Given the description of an element on the screen output the (x, y) to click on. 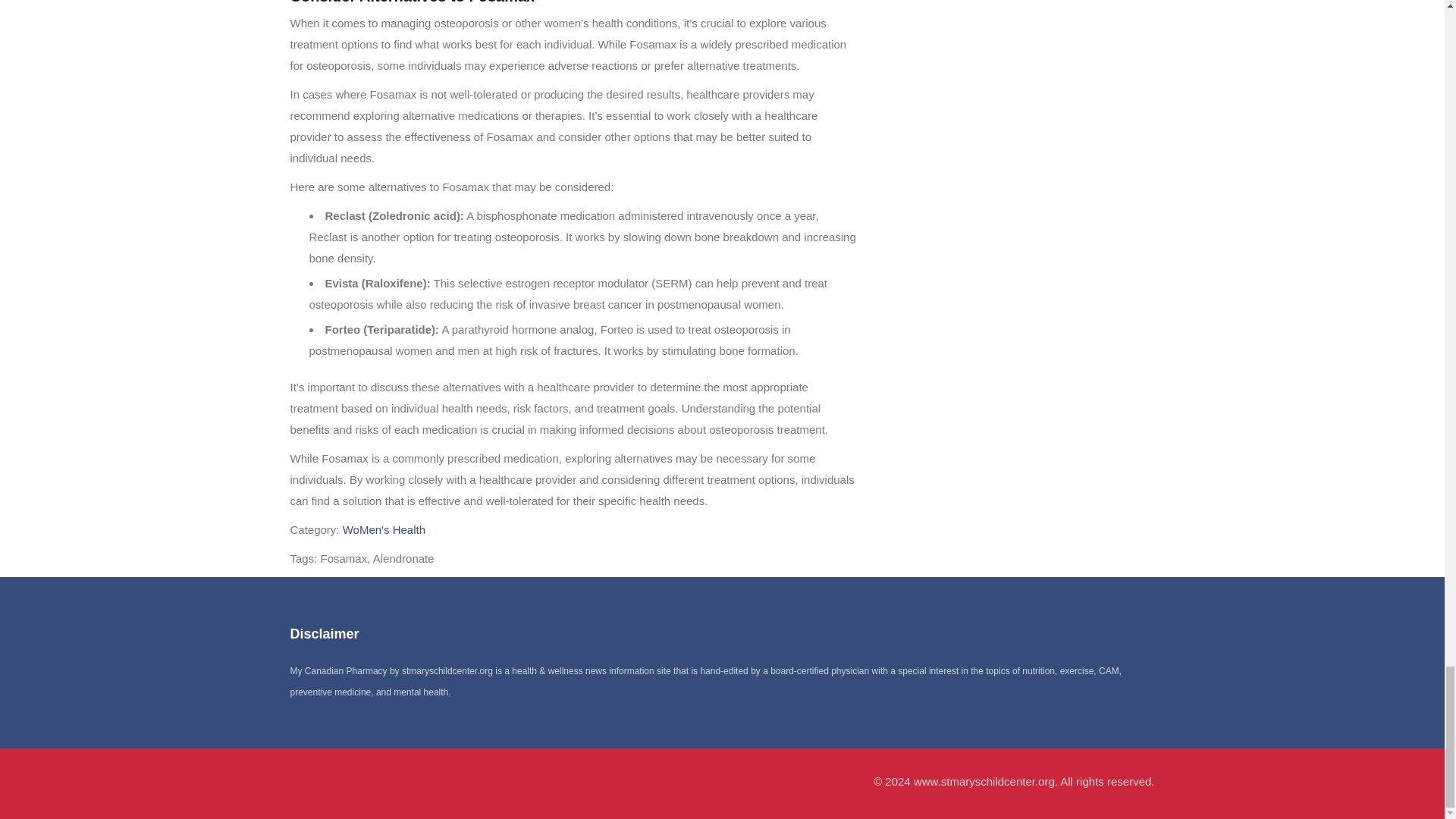
WoMen's Health (383, 529)
